Given the description of an element on the screen output the (x, y) to click on. 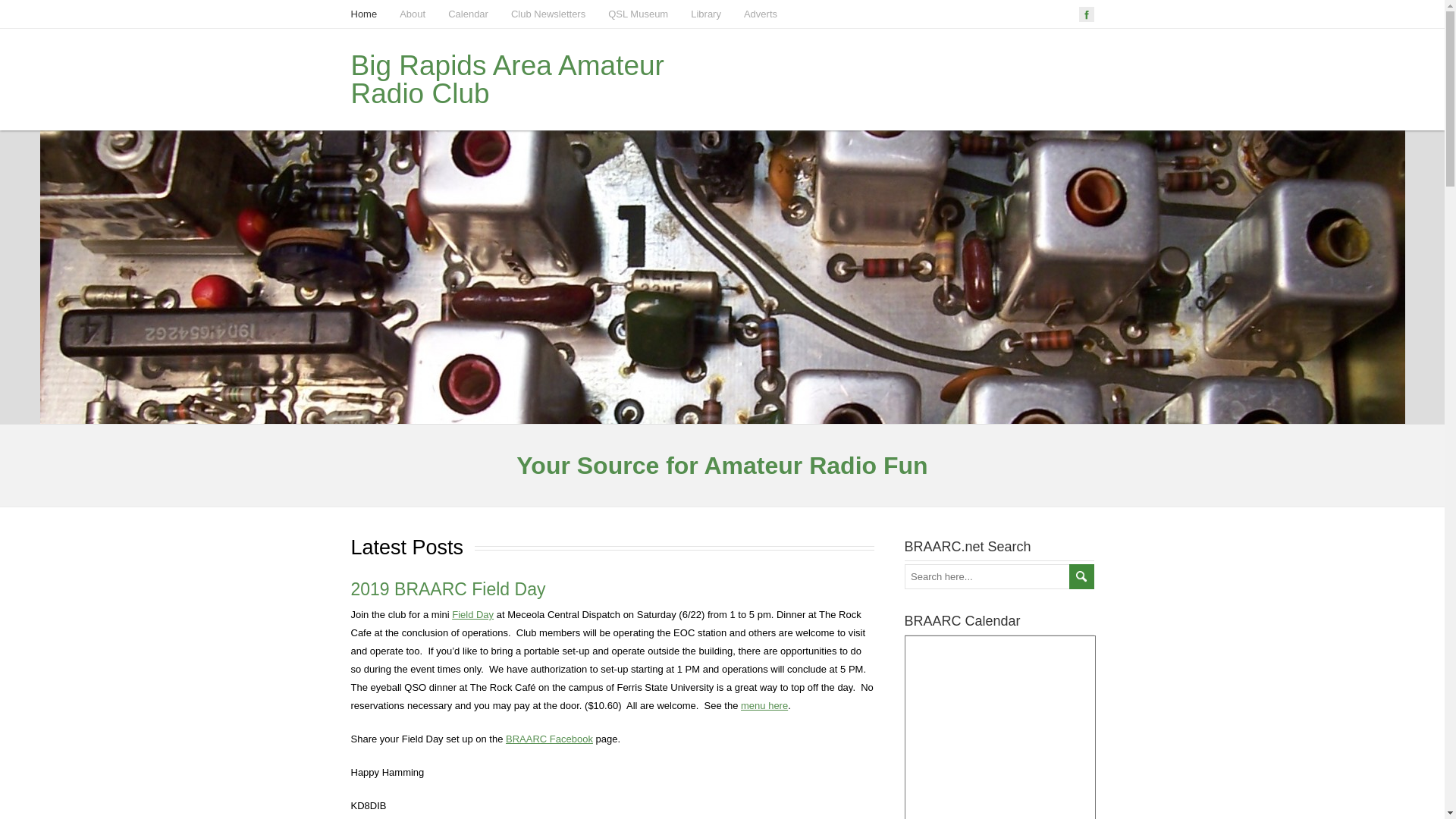
QSL Museum (638, 13)
About (411, 13)
Big Rapids Area Amateur Radio Club (506, 78)
Library (705, 13)
Field Day (472, 614)
Calendar (467, 13)
menu here (764, 705)
BRAARC Facebook (548, 738)
Club Newsletters (548, 13)
Home (363, 13)
2019 BRAARC Field Day (447, 588)
Adverts (760, 13)
